Given the description of an element on the screen output the (x, y) to click on. 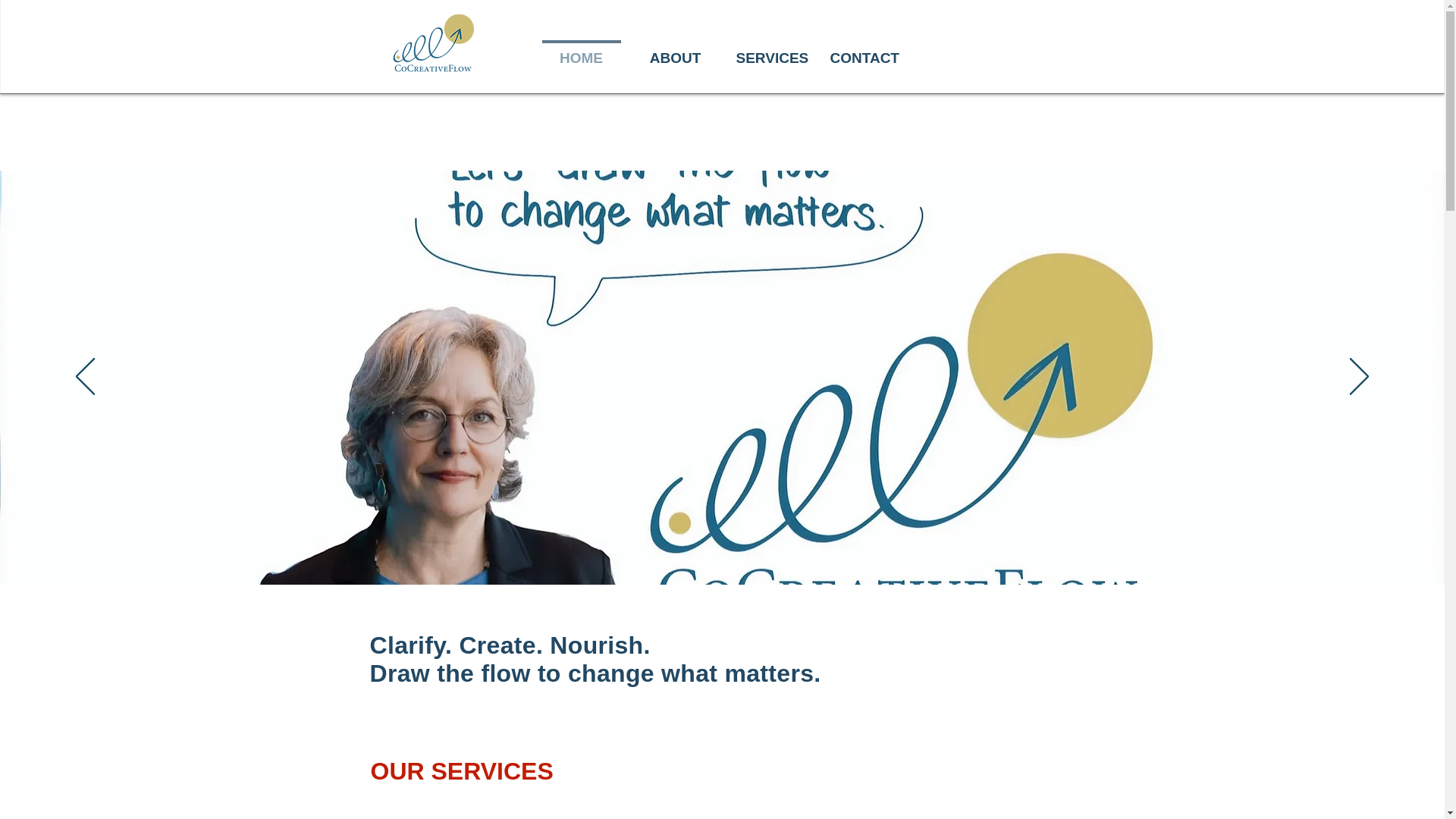
HOME (580, 51)
SERVICES (768, 51)
ABOUT (674, 51)
CONTACT (862, 51)
